Given the description of an element on the screen output the (x, y) to click on. 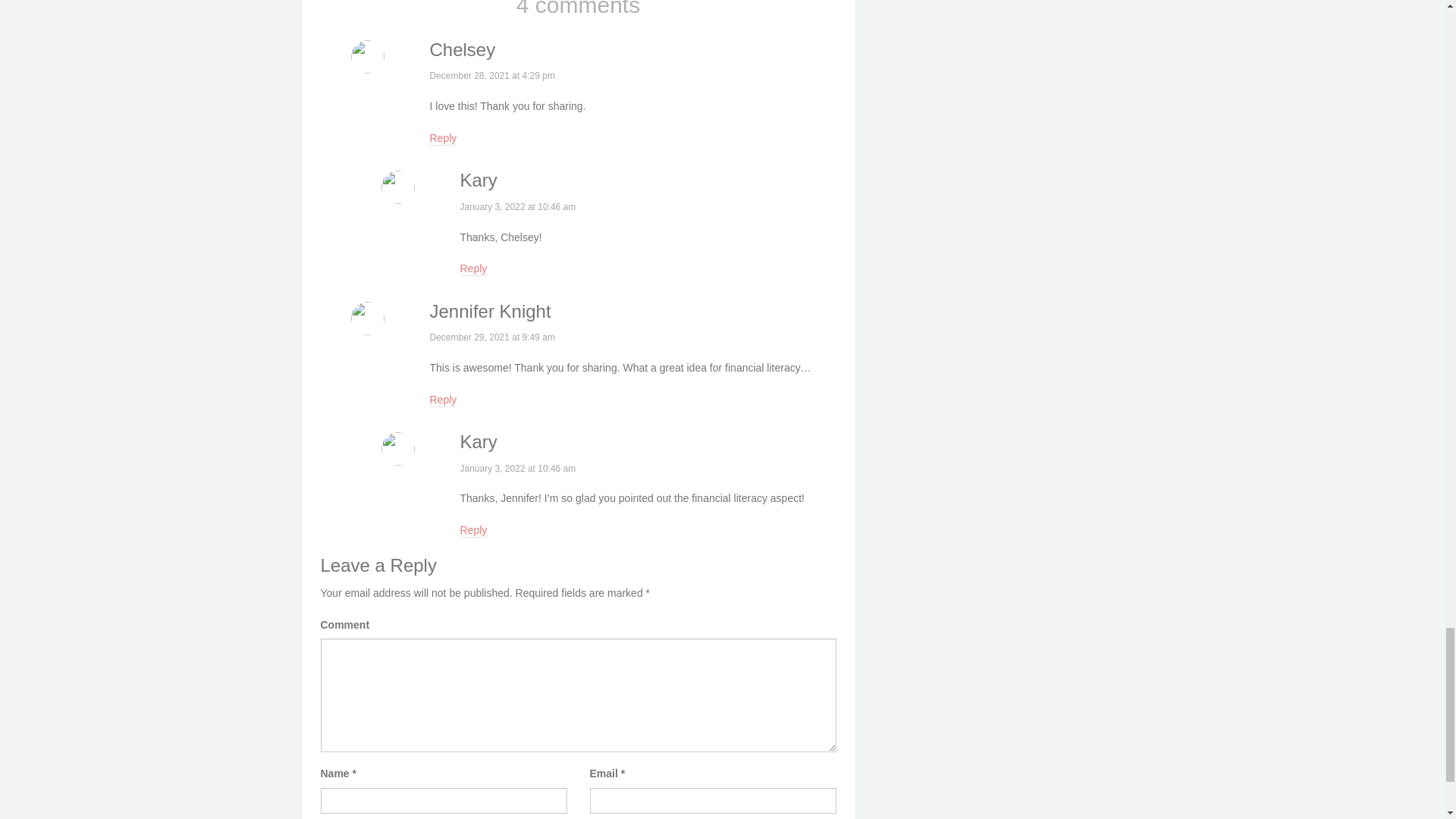
Reply (443, 138)
Reply (473, 269)
Reply (473, 530)
January 3, 2022 at 10:46 am (517, 468)
Reply (443, 400)
December 29, 2021 at 9:49 am (491, 337)
January 3, 2022 at 10:46 am (517, 206)
December 28, 2021 at 4:29 pm (491, 75)
